Given the description of an element on the screen output the (x, y) to click on. 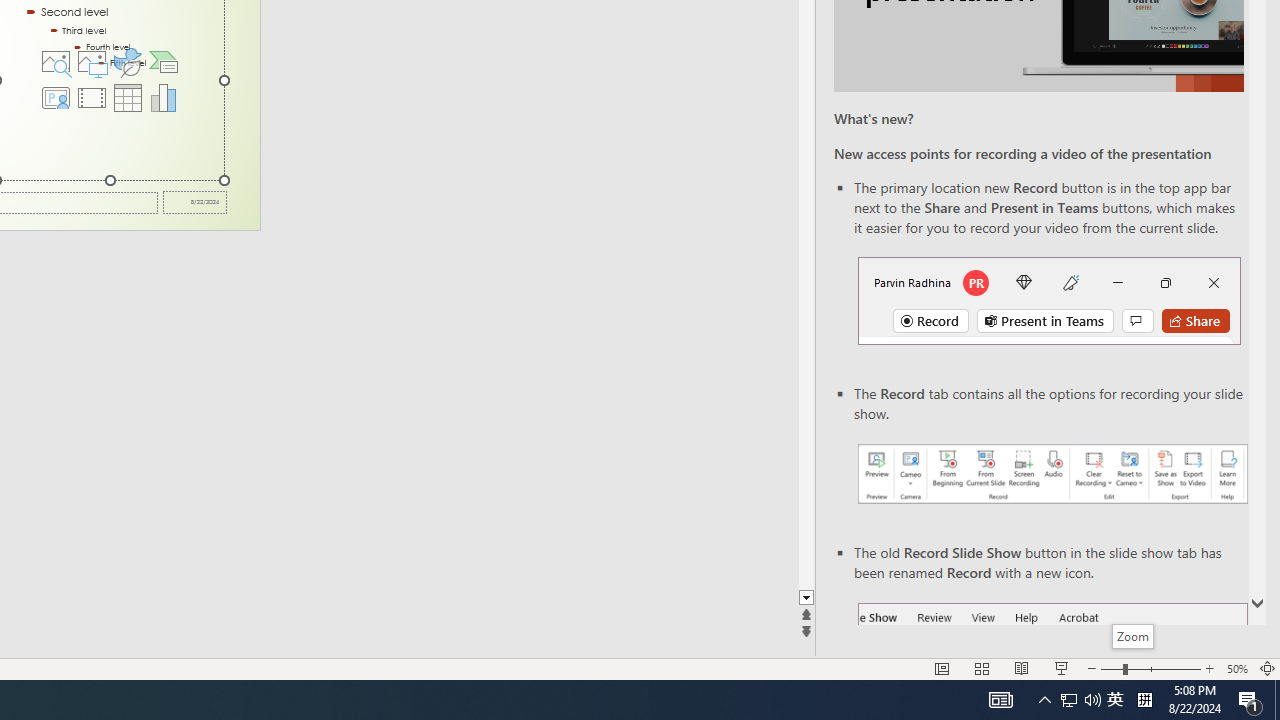
Insert Cameo (55, 97)
Zoom 50% (1236, 668)
Date (194, 201)
Insert Chart (164, 97)
